Given the description of an element on the screen output the (x, y) to click on. 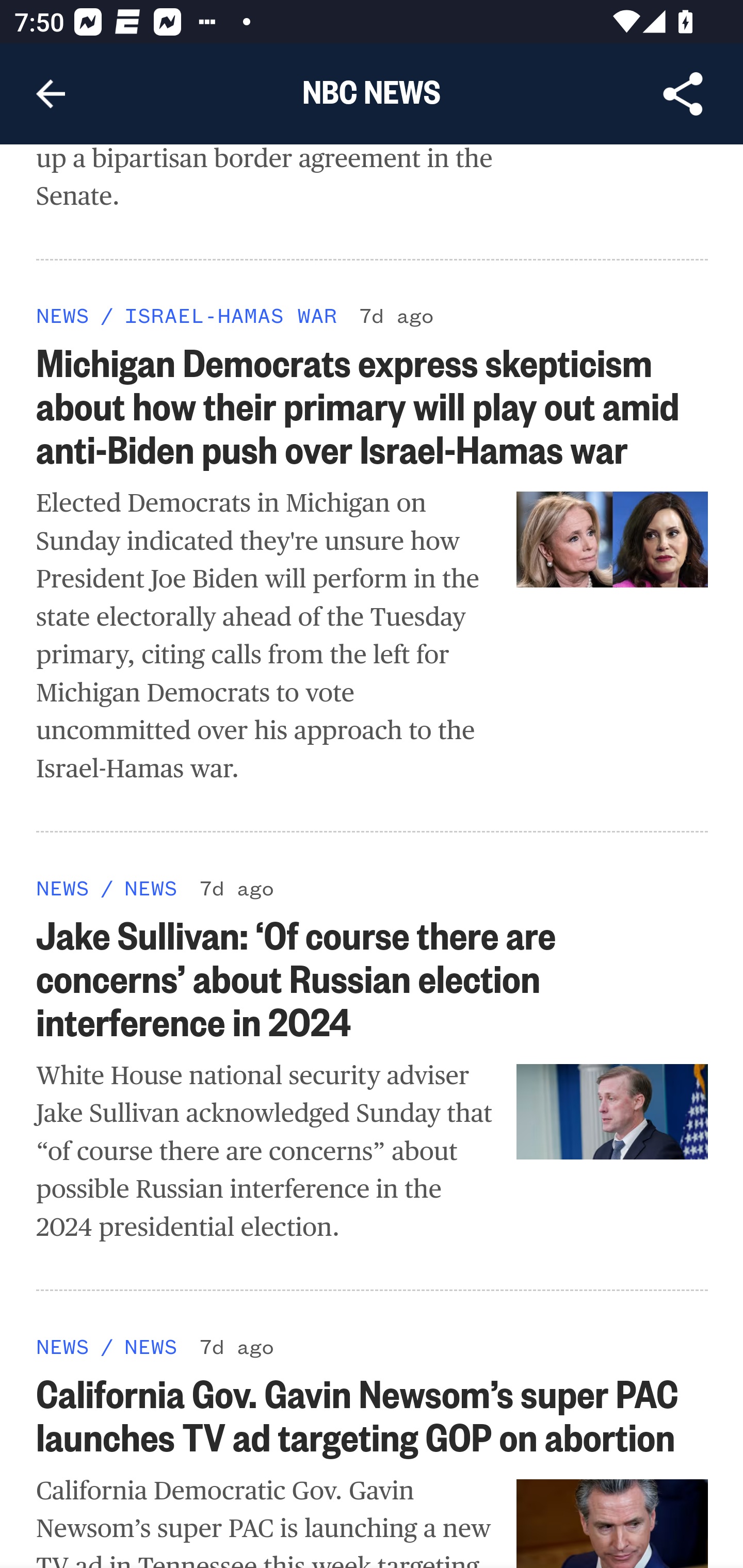
Navigate up (50, 93)
Share Article, button (683, 94)
NEWS NEWS NEWS (63, 316)
ISRAEL-HAMAS WAR ISRAEL-HAMAS WAR ISRAEL-HAMAS WAR (229, 316)
NEWS NEWS NEWS (63, 887)
NEWS NEWS NEWS (150, 887)
NEWS NEWS NEWS (63, 1346)
NEWS NEWS NEWS (150, 1346)
